Given the description of an element on the screen output the (x, y) to click on. 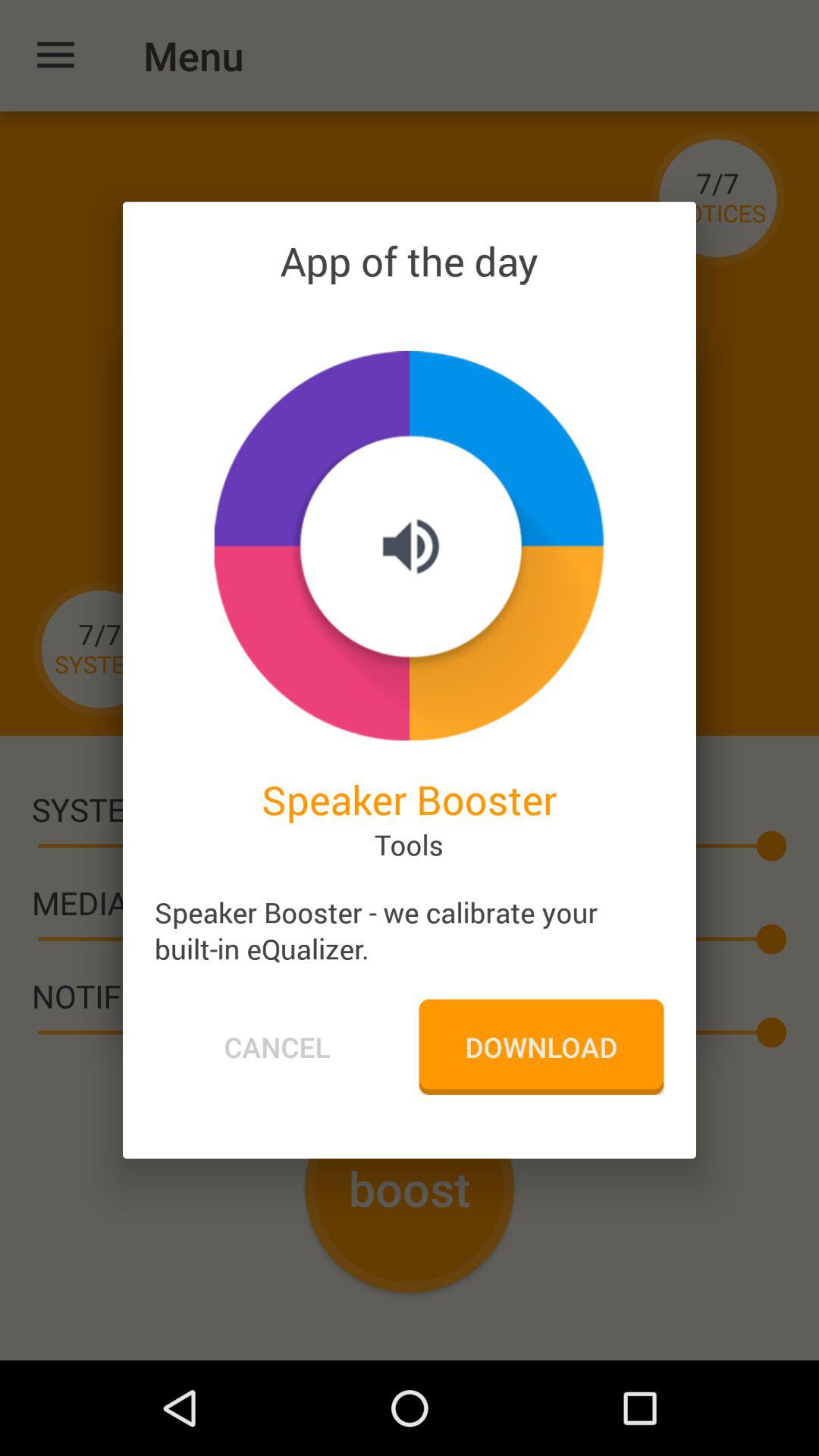
tap the cancel icon (276, 1046)
